Given the description of an element on the screen output the (x, y) to click on. 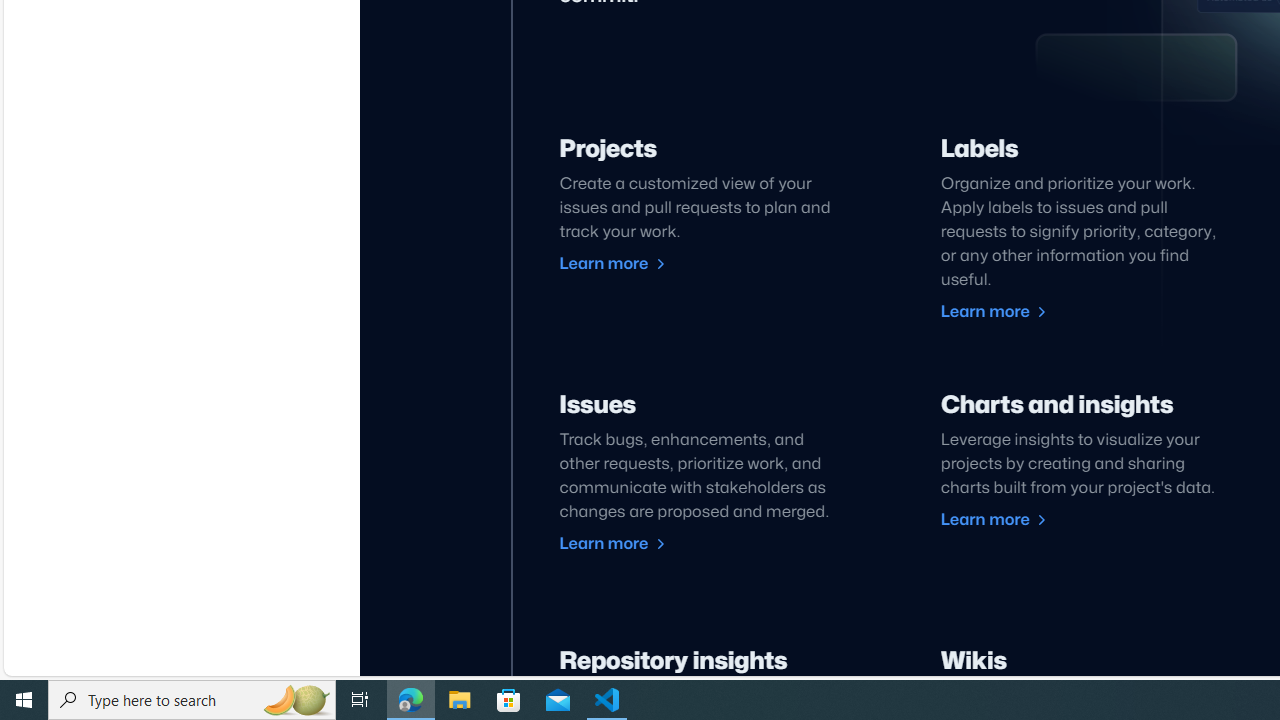
Class: octicon arrow-symbol-mktg (1040, 520)
Learn more  (994, 520)
